Given the description of an element on the screen output the (x, y) to click on. 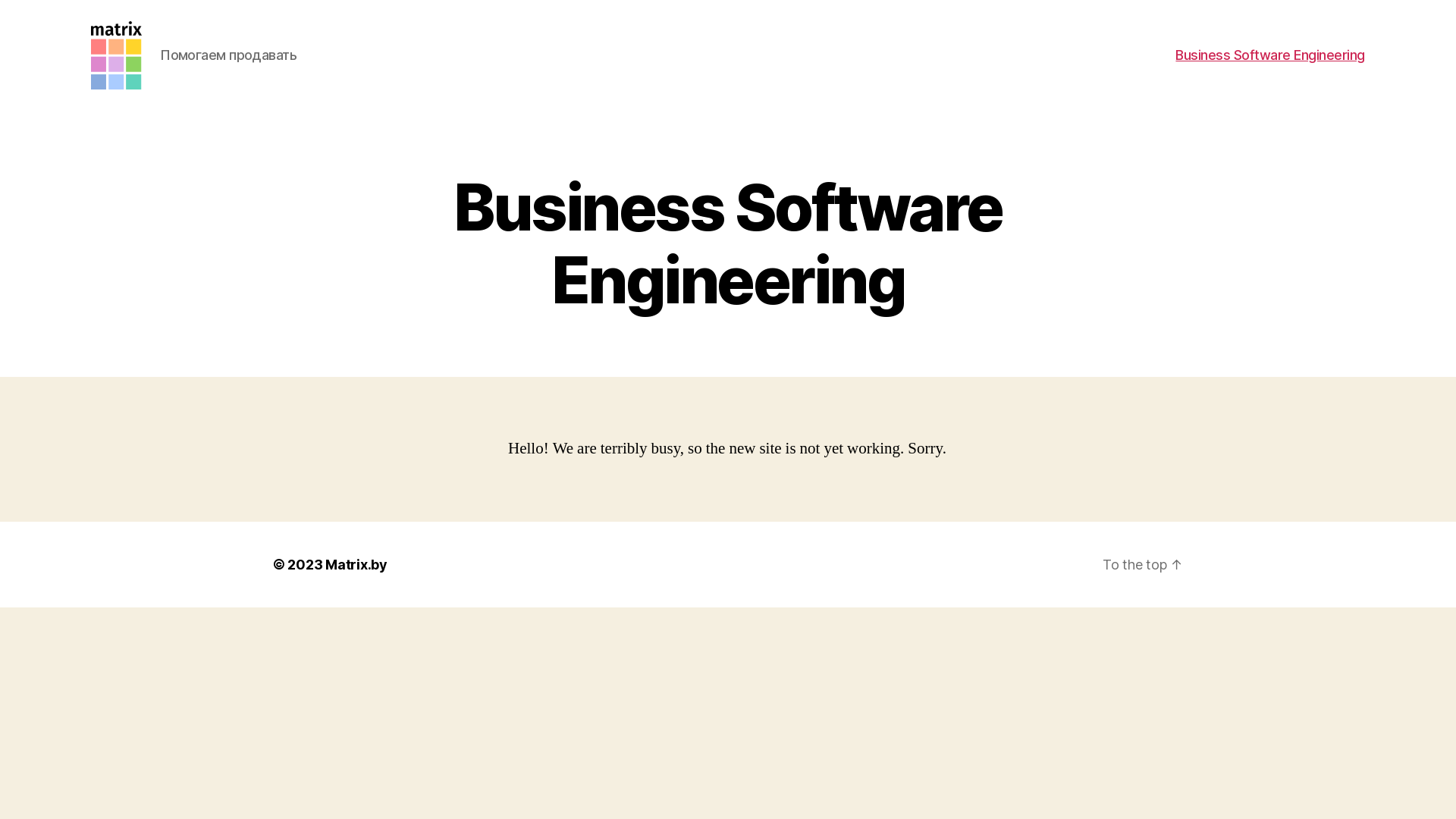
Business Software Engineering Element type: text (1270, 55)
Matrix.by Element type: text (356, 564)
